Given the description of an element on the screen output the (x, y) to click on. 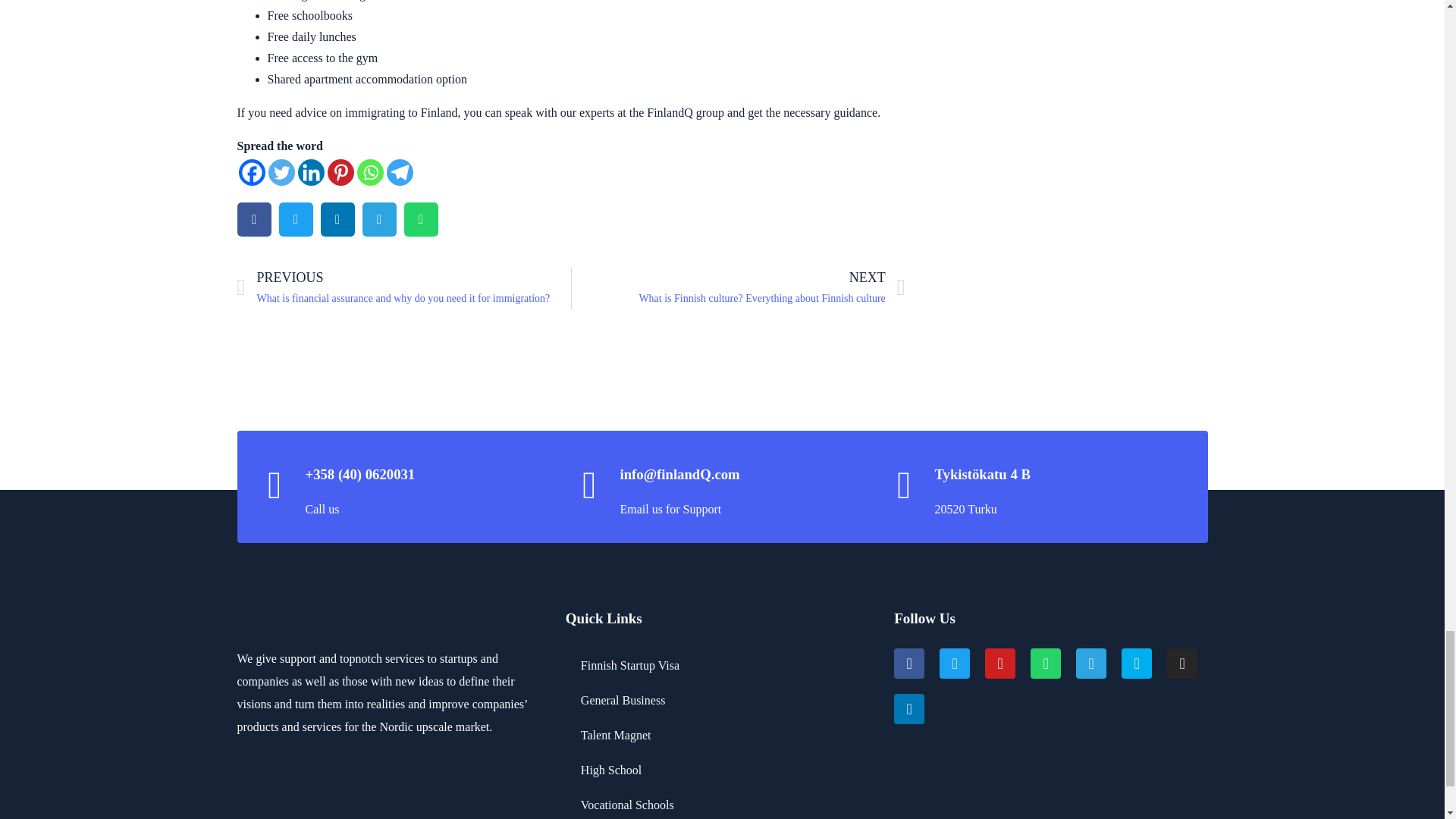
Twitter (281, 171)
Pinterest (340, 171)
Whatsapp (369, 171)
Facebook (251, 171)
Telegram (400, 171)
Linkedin (310, 171)
